Given the description of an element on the screen output the (x, y) to click on. 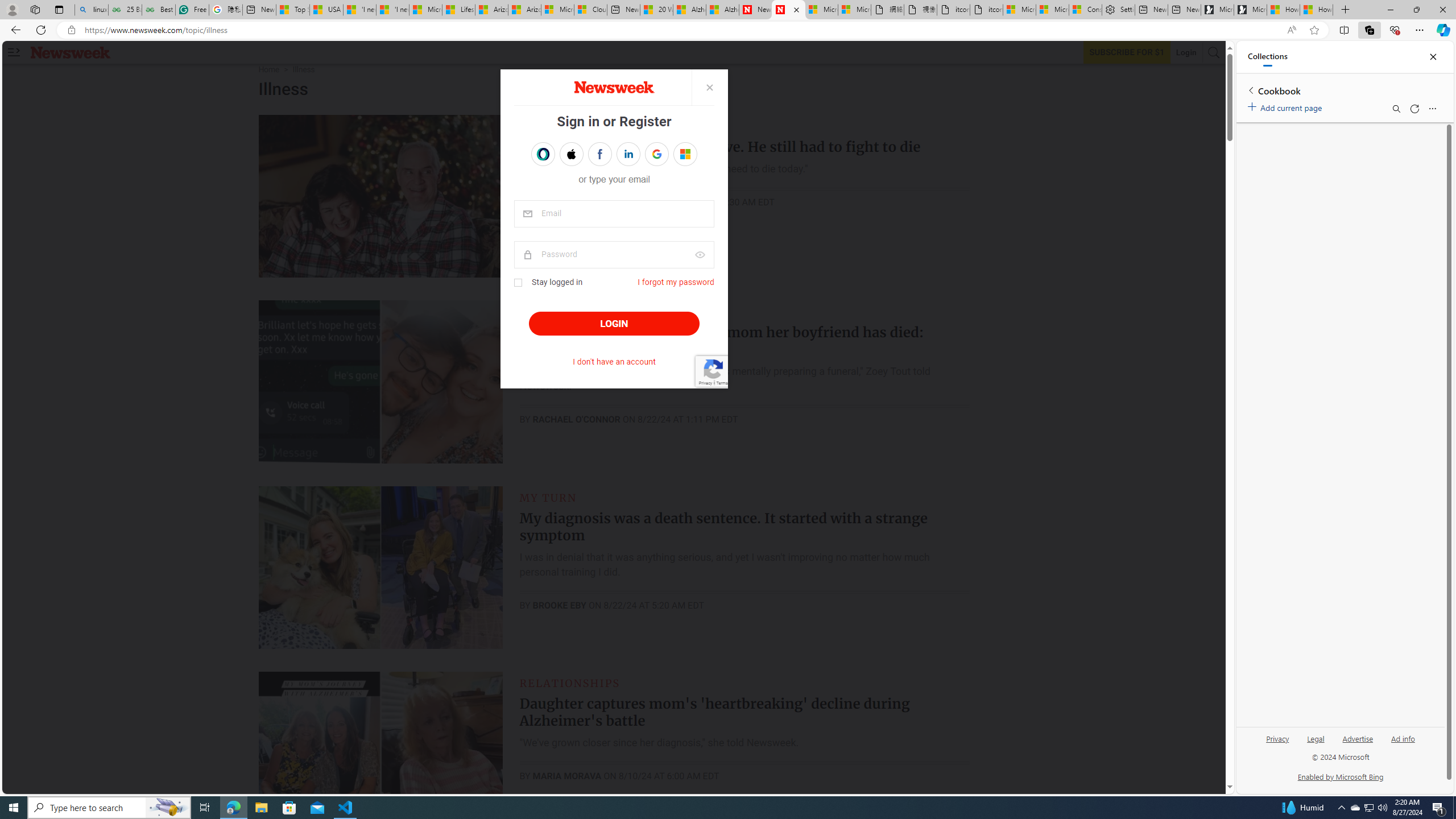
App bar (728, 29)
Sign in with LINKEDIN (627, 154)
Add current page (1286, 105)
25 Basic Linux Commands For Beginners - GeeksforGeeks (125, 9)
New tab (1184, 9)
Privacy (1277, 742)
Eugene (677, 153)
Sign in with FACEBOOK (599, 154)
Microsoft Start Gaming (1249, 9)
How to Use a TV as a Computer Monitor (1316, 9)
Privacy (1278, 738)
Newsweek - News, Analysis, Politics, Business, Technology (755, 9)
password (613, 254)
